Given the description of an element on the screen output the (x, y) to click on. 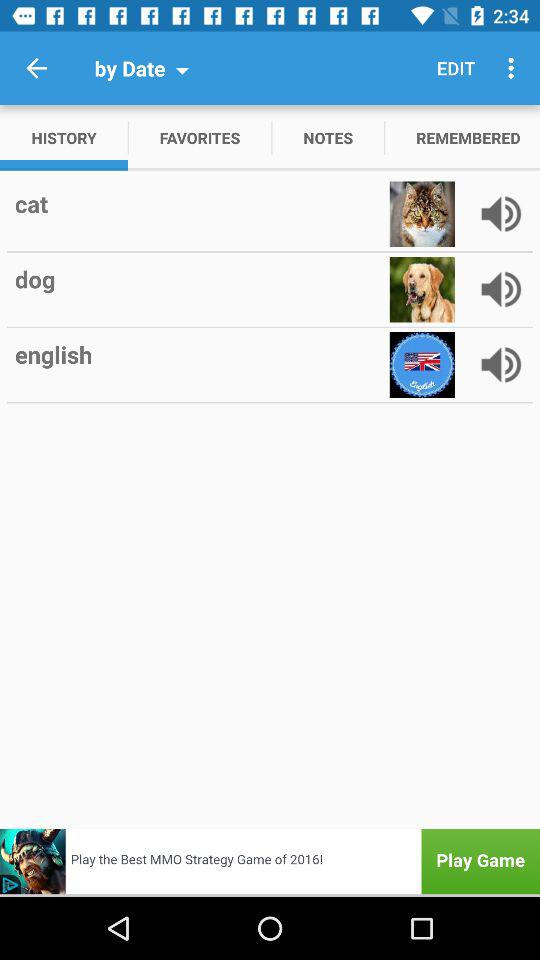
choose item next to favorites icon (64, 137)
